Given the description of an element on the screen output the (x, y) to click on. 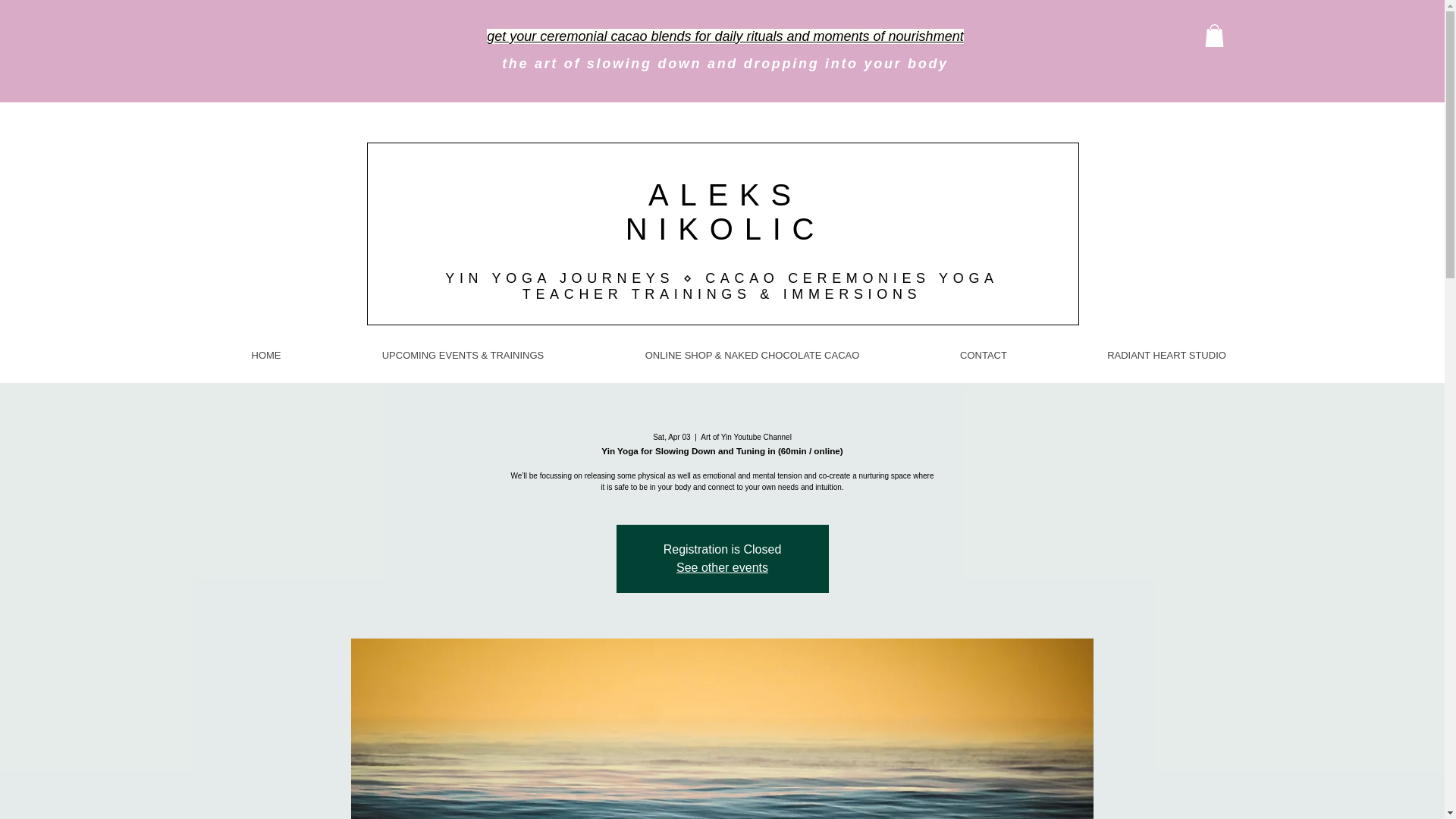
HOME (266, 355)
RADIANT HEART STUDIO (1166, 355)
See other events (722, 567)
ALEKS (724, 194)
CONTACT (983, 355)
